Given the description of an element on the screen output the (x, y) to click on. 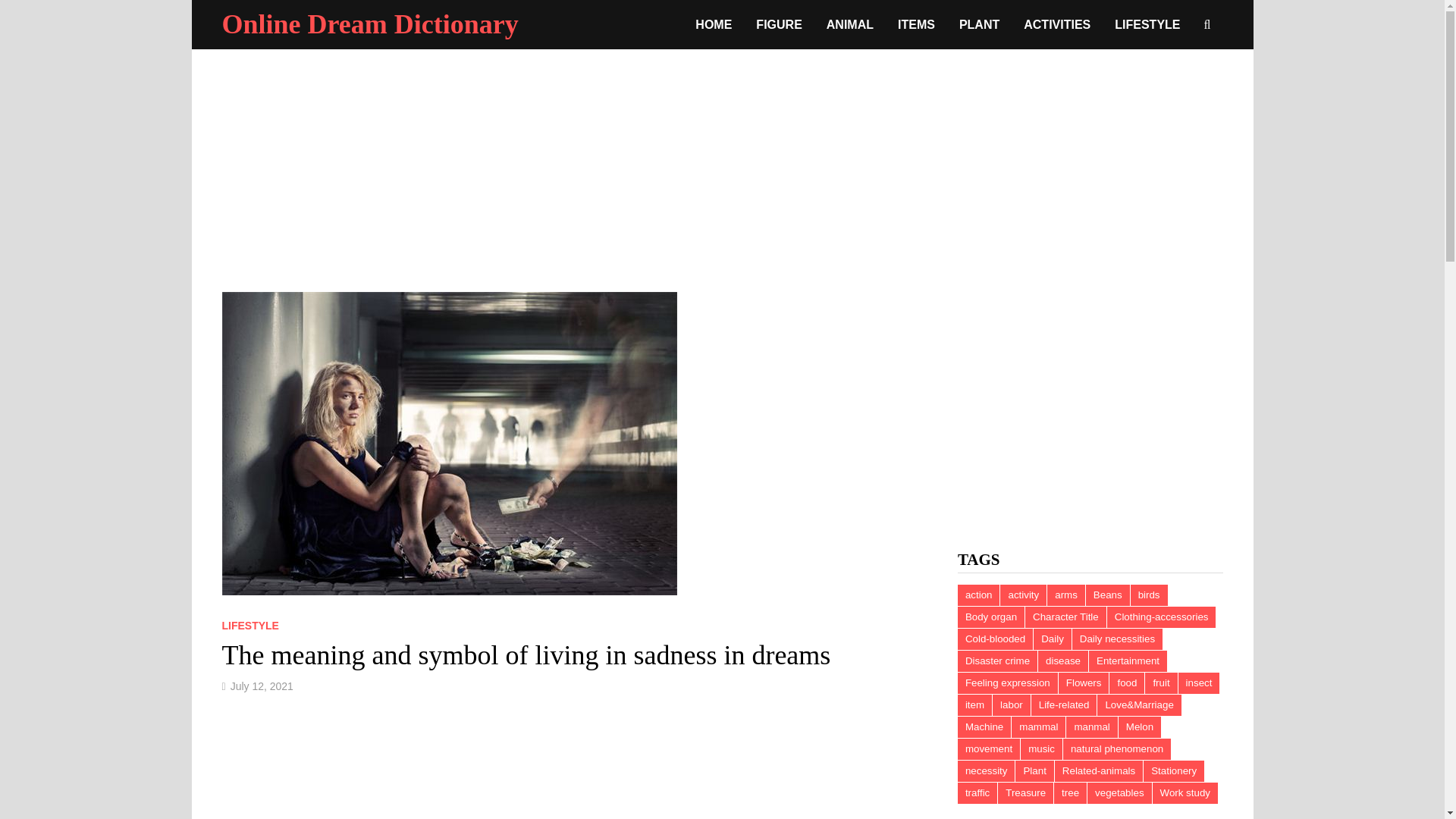
July 12, 2021 (262, 686)
FIGURE (778, 24)
ITEMS (916, 24)
Advertisement (573, 769)
HOME (713, 24)
LIFESTYLE (249, 625)
ANIMAL (849, 24)
LIFESTYLE (1147, 24)
Online Dream Dictionary (369, 24)
Advertisement (1090, 397)
ACTIVITIES (1056, 24)
PLANT (979, 24)
